Given the description of an element on the screen output the (x, y) to click on. 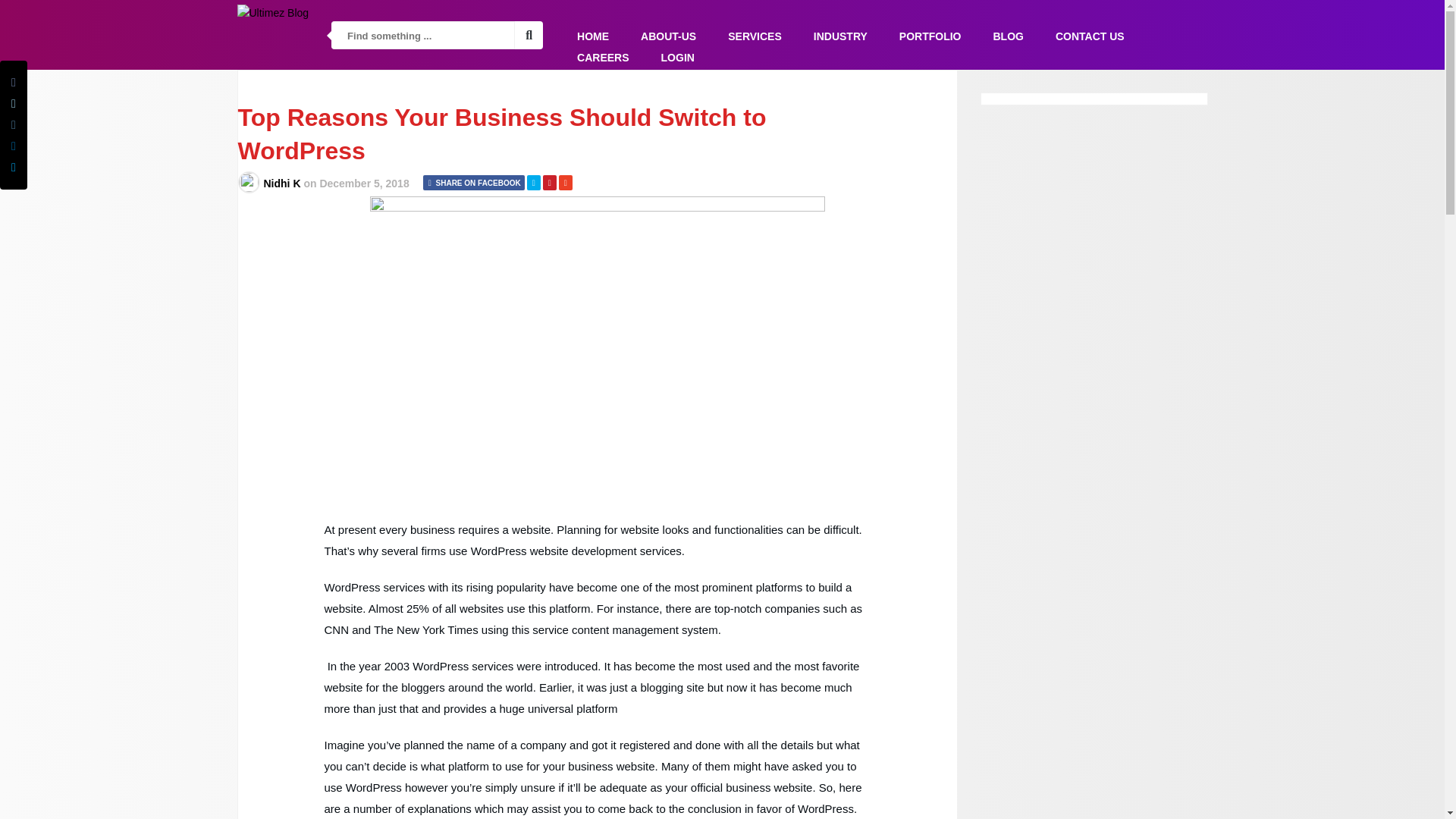
HOME (593, 35)
SERVICES (754, 35)
ABOUT-US (667, 35)
Posts by Nidhi K (282, 183)
